Given the description of an element on the screen output the (x, y) to click on. 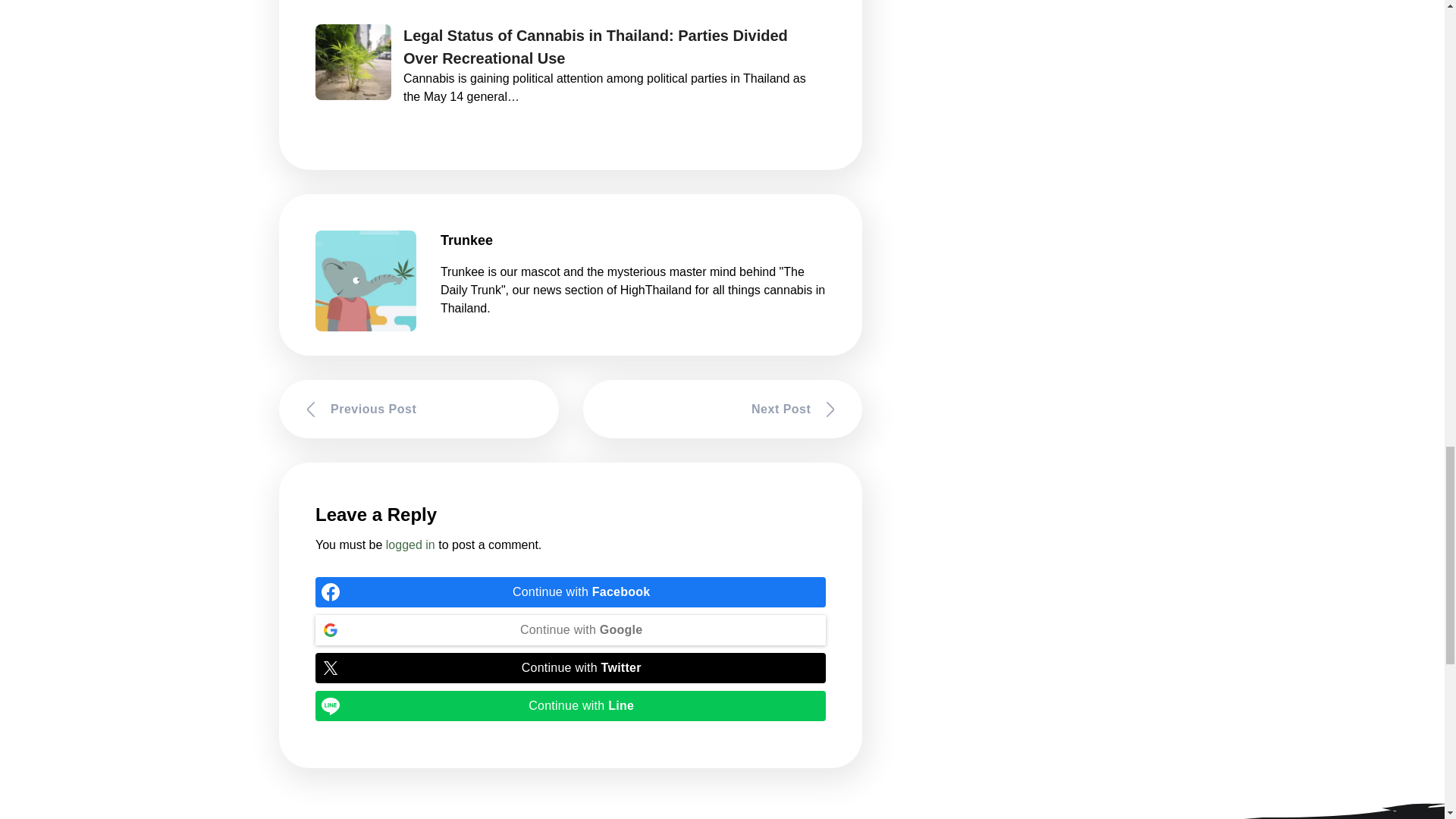
Next Post (723, 409)
Previous Post (419, 409)
